Given the description of an element on the screen output the (x, y) to click on. 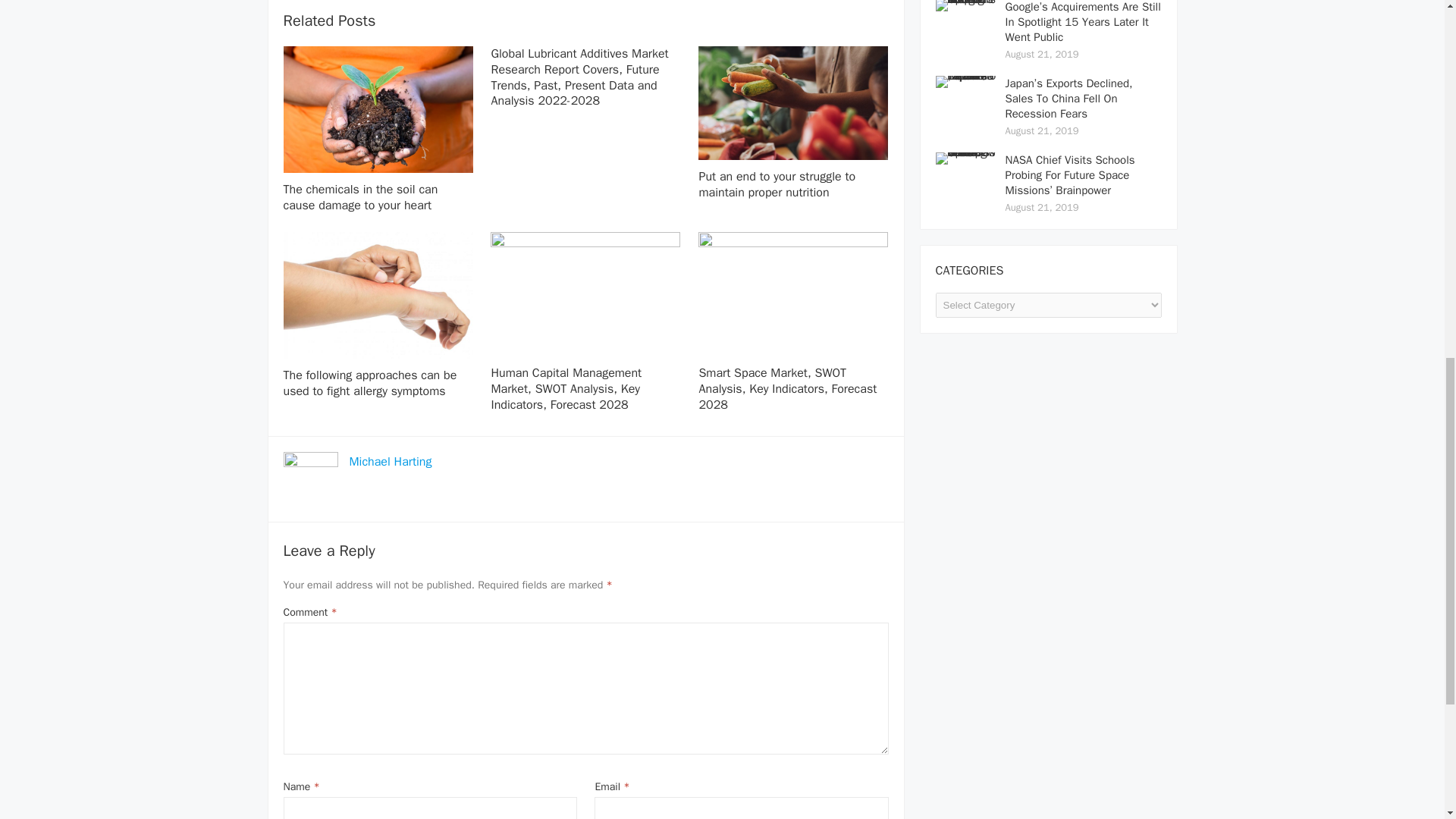
The chemicals in the soil can cause damage to your heart (360, 196)
Michael Harting (389, 461)
Put an end to your struggle to maintain proper nutrition (777, 183)
